Given the description of an element on the screen output the (x, y) to click on. 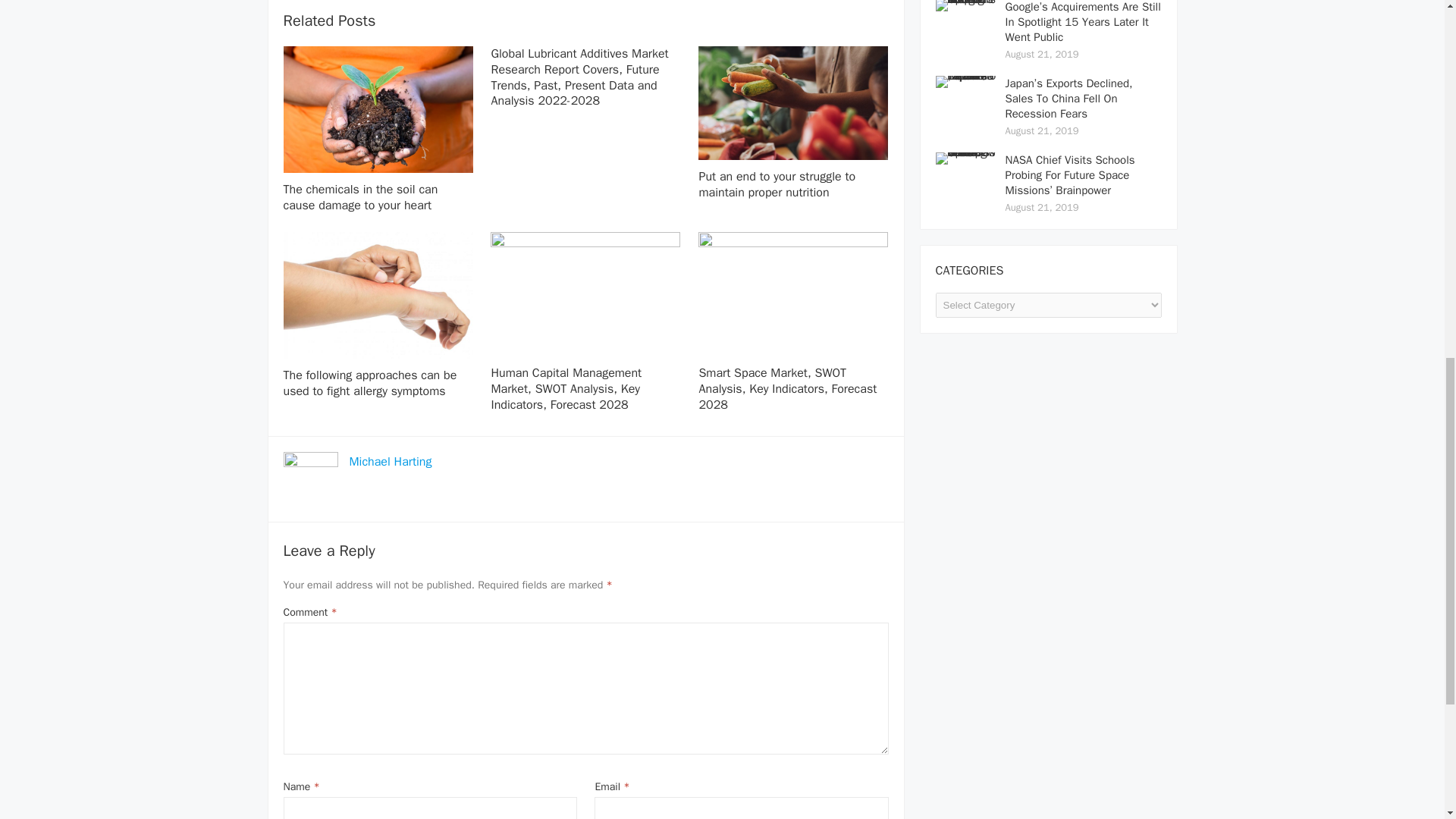
The chemicals in the soil can cause damage to your heart (360, 196)
Michael Harting (389, 461)
Put an end to your struggle to maintain proper nutrition (777, 183)
